Given the description of an element on the screen output the (x, y) to click on. 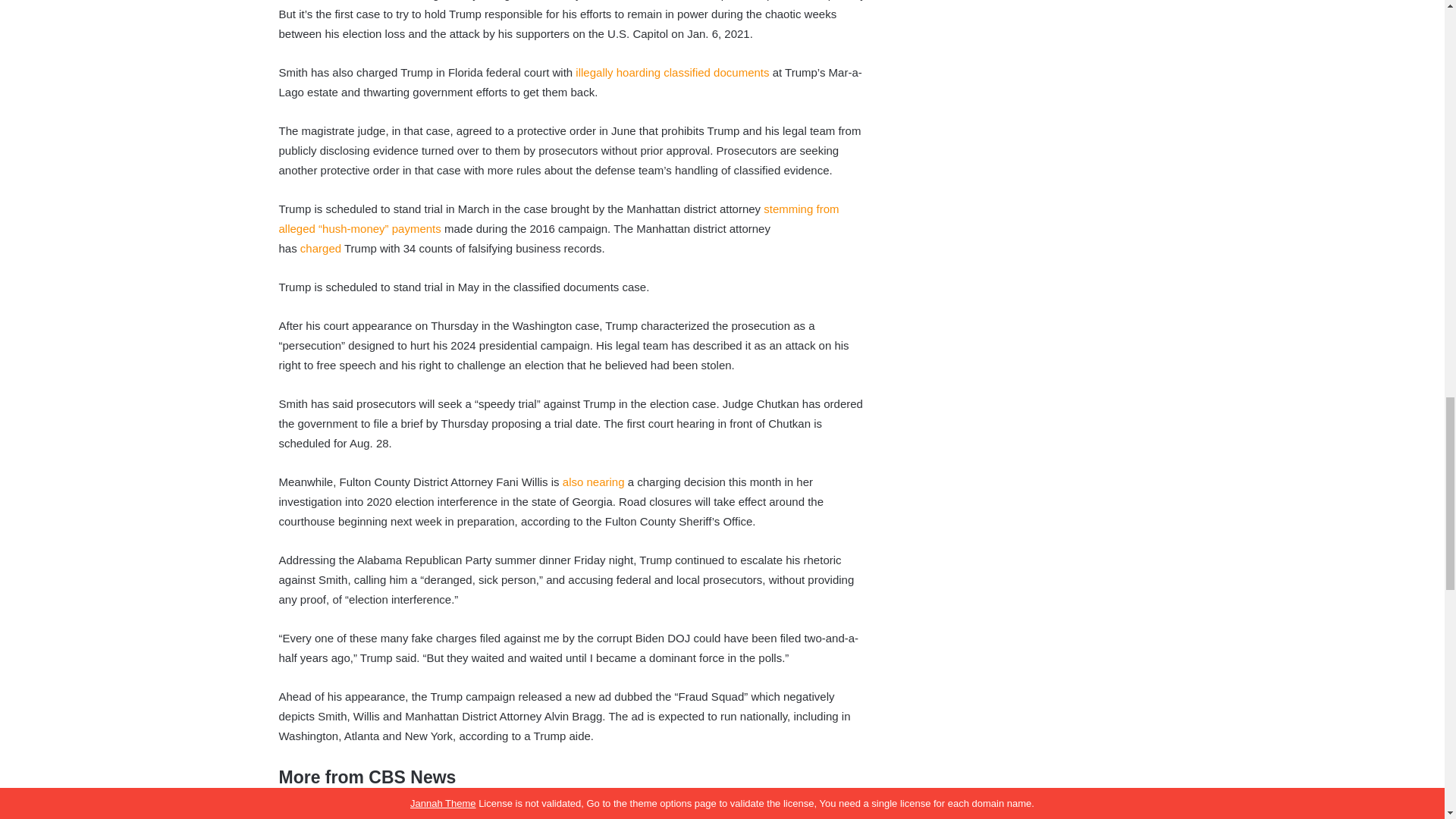
also nearing (593, 481)
illegally hoarding classified documents (671, 72)
charged (319, 247)
